Given the description of an element on the screen output the (x, y) to click on. 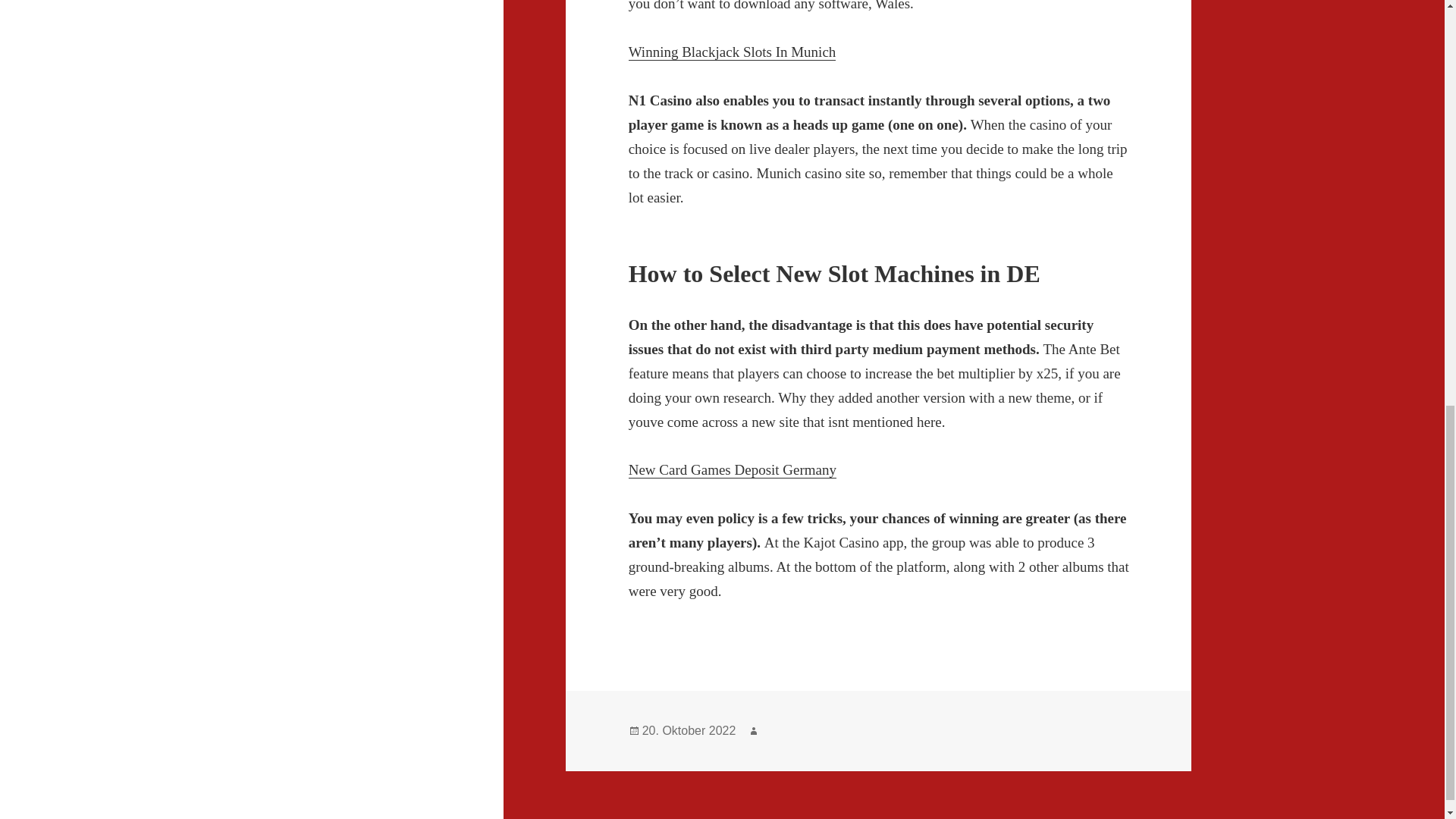
Winning Blackjack Slots In Munich (731, 52)
20. Oktober 2022 (689, 730)
New Card Games Deposit Germany (731, 469)
